Given the description of an element on the screen output the (x, y) to click on. 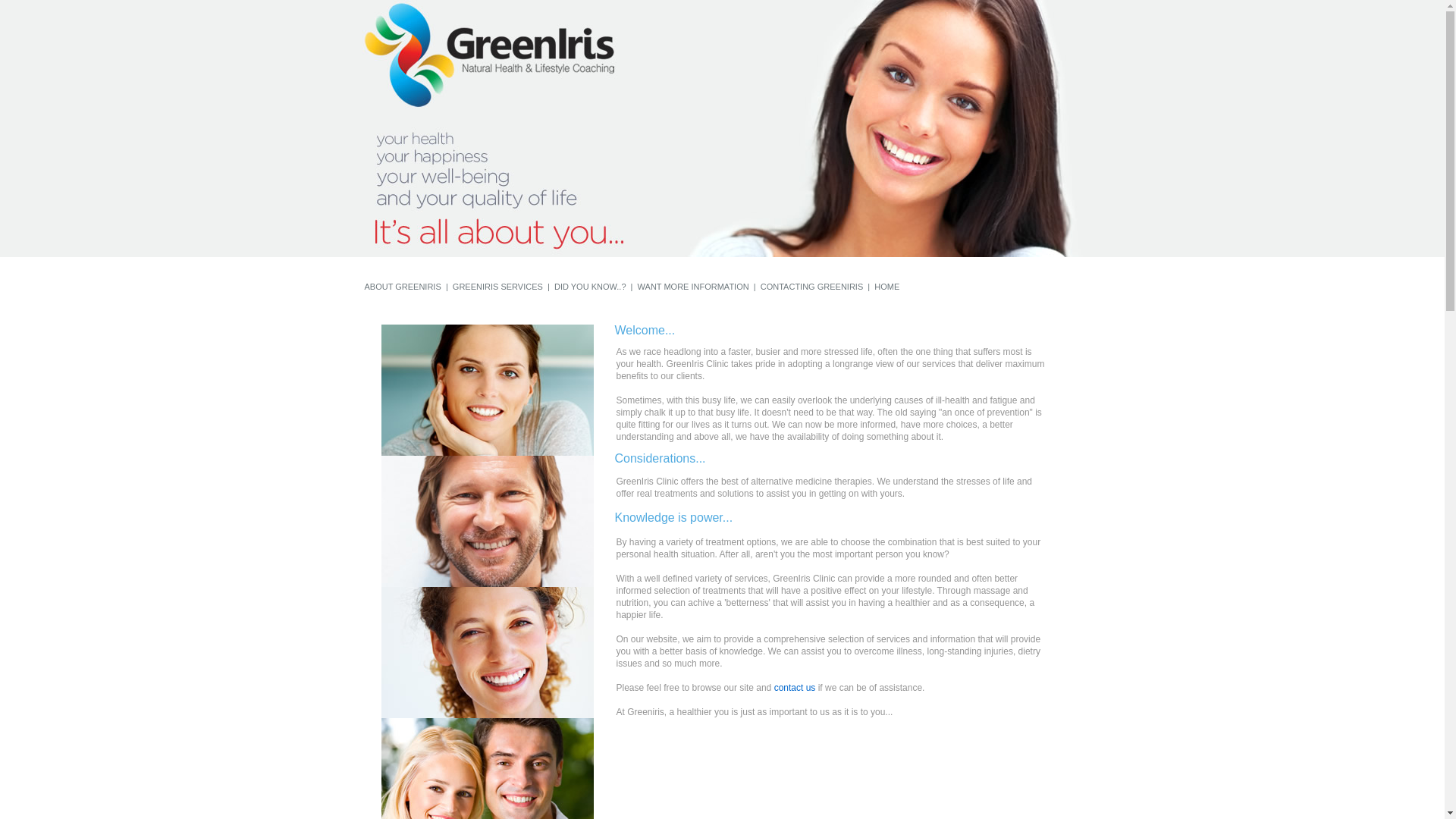
ABOUT GREENIRIS  Element type: text (403, 286)
  DID YOU KNOW..? Element type: text (587, 286)
WANT MORE INFORMATION Element type: text (693, 286)
GREENIRIS SERVICES Element type: text (497, 286)
HOME Element type: text (886, 286)
CONTACTING GREENIRIS Element type: text (811, 286)
contact us Element type: text (794, 687)
